Given the description of an element on the screen output the (x, y) to click on. 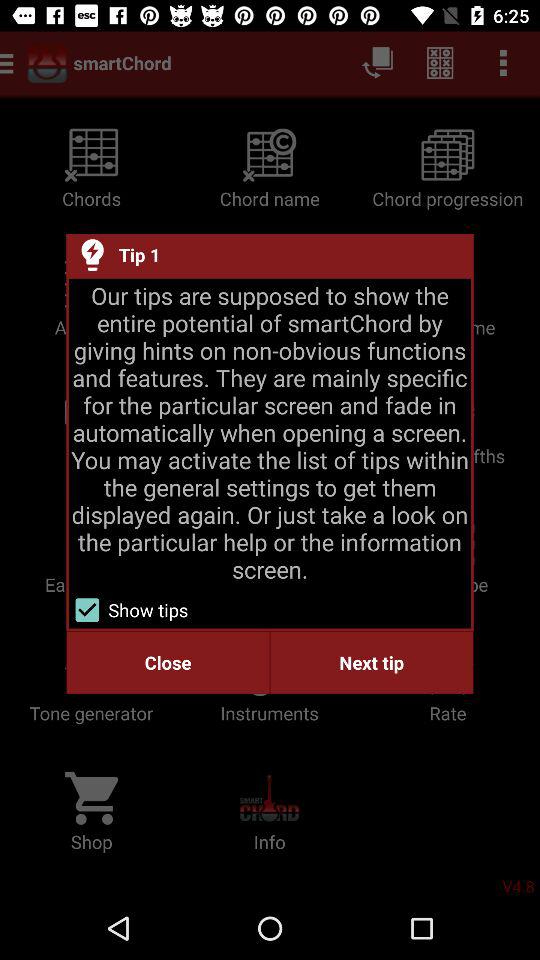
select next tip at the bottom right corner (371, 662)
